Given the description of an element on the screen output the (x, y) to click on. 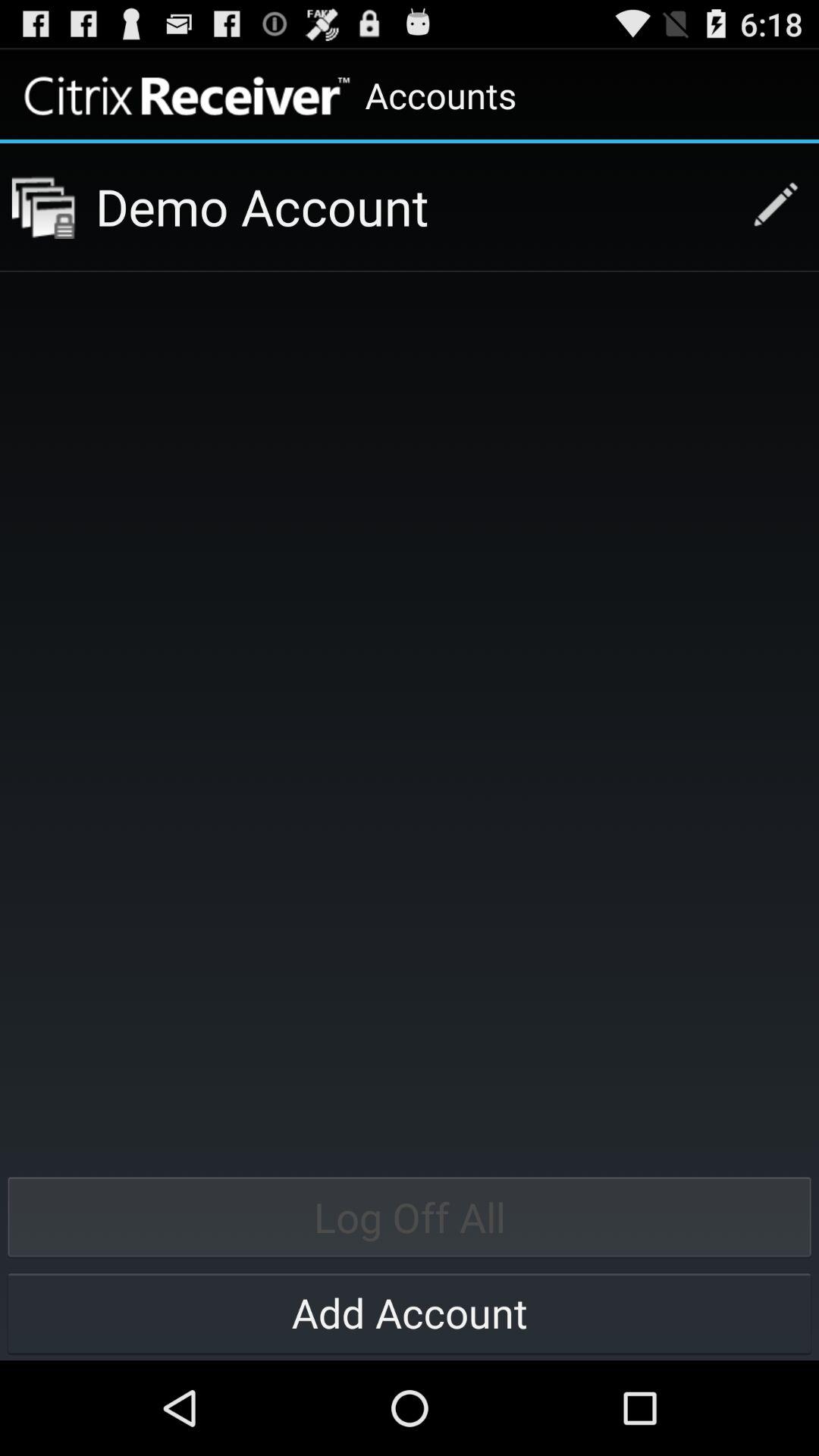
click the item above the log off all (412, 206)
